Given the description of an element on the screen output the (x, y) to click on. 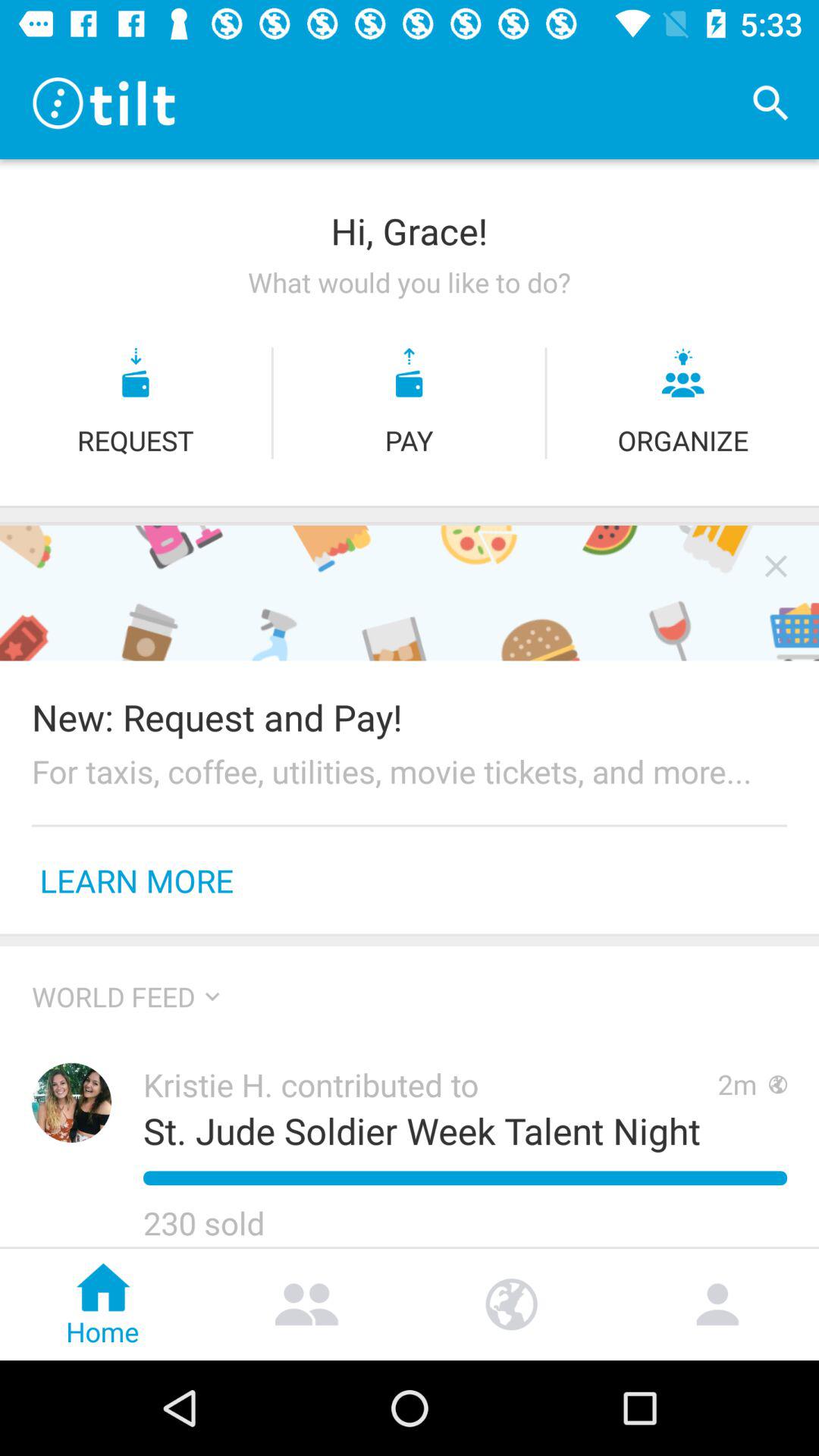
choose the item below st jude soldier (465, 1178)
